Given the description of an element on the screen output the (x, y) to click on. 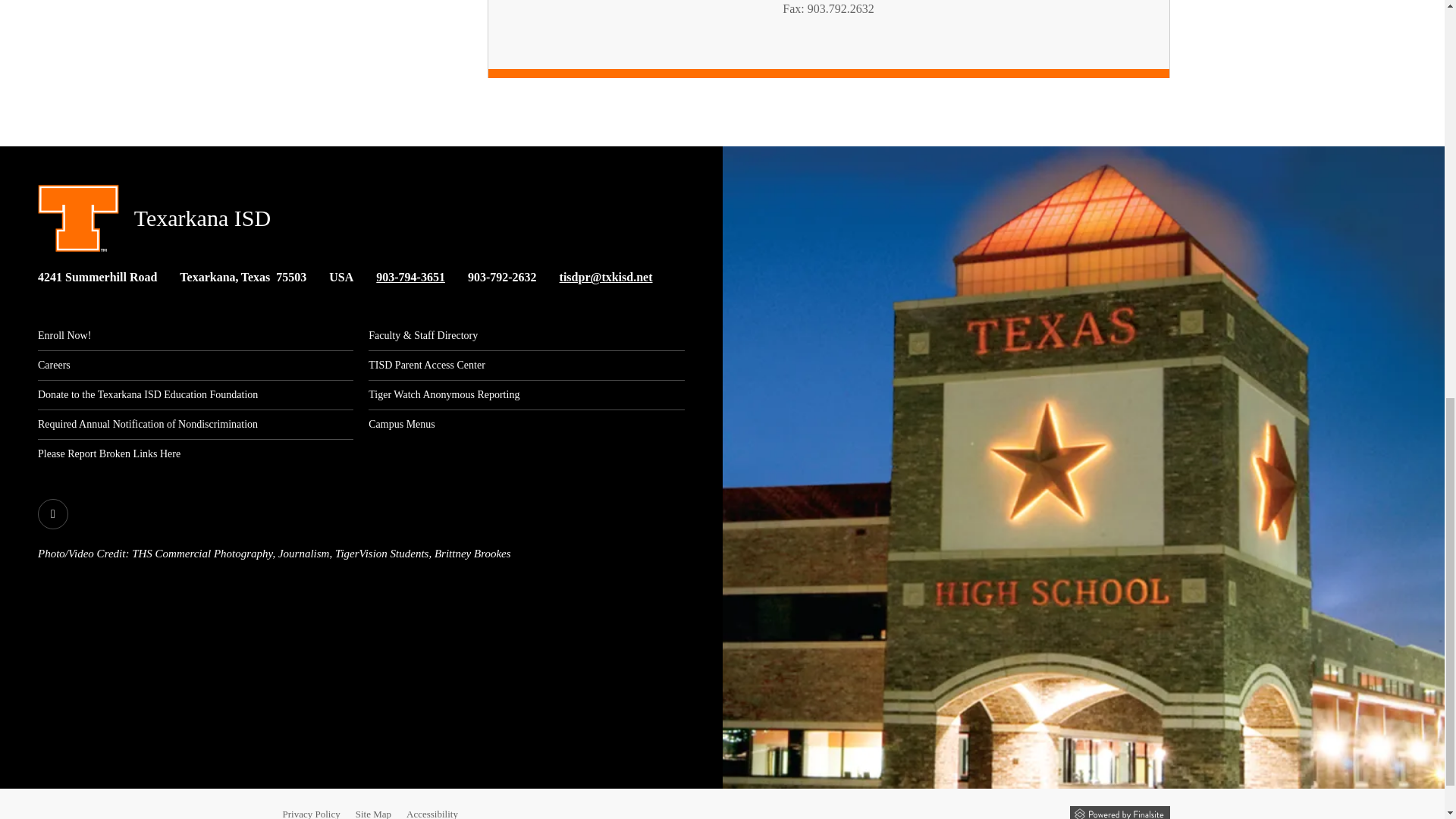
Email (605, 277)
Powered by Finalsite opens in a new window (1118, 812)
